Given the description of an element on the screen output the (x, y) to click on. 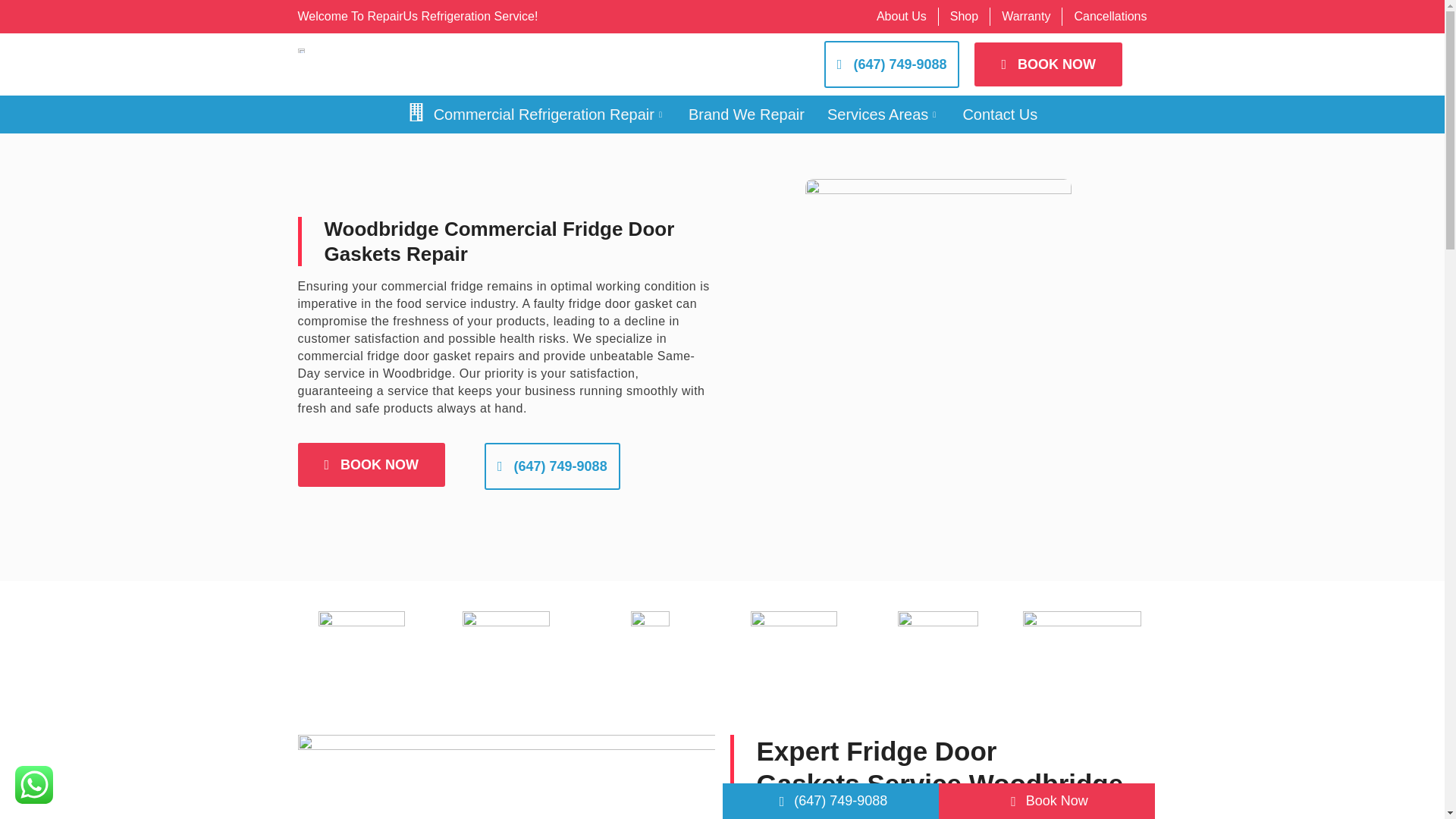
About Us (901, 16)
Services Areas (882, 114)
BOOK NOW (1048, 64)
Shop (964, 16)
Cancellations (1110, 16)
Warranty (1025, 16)
Brand We Repair (746, 114)
Commercial Refrigeration Repair (536, 114)
